Given the description of an element on the screen output the (x, y) to click on. 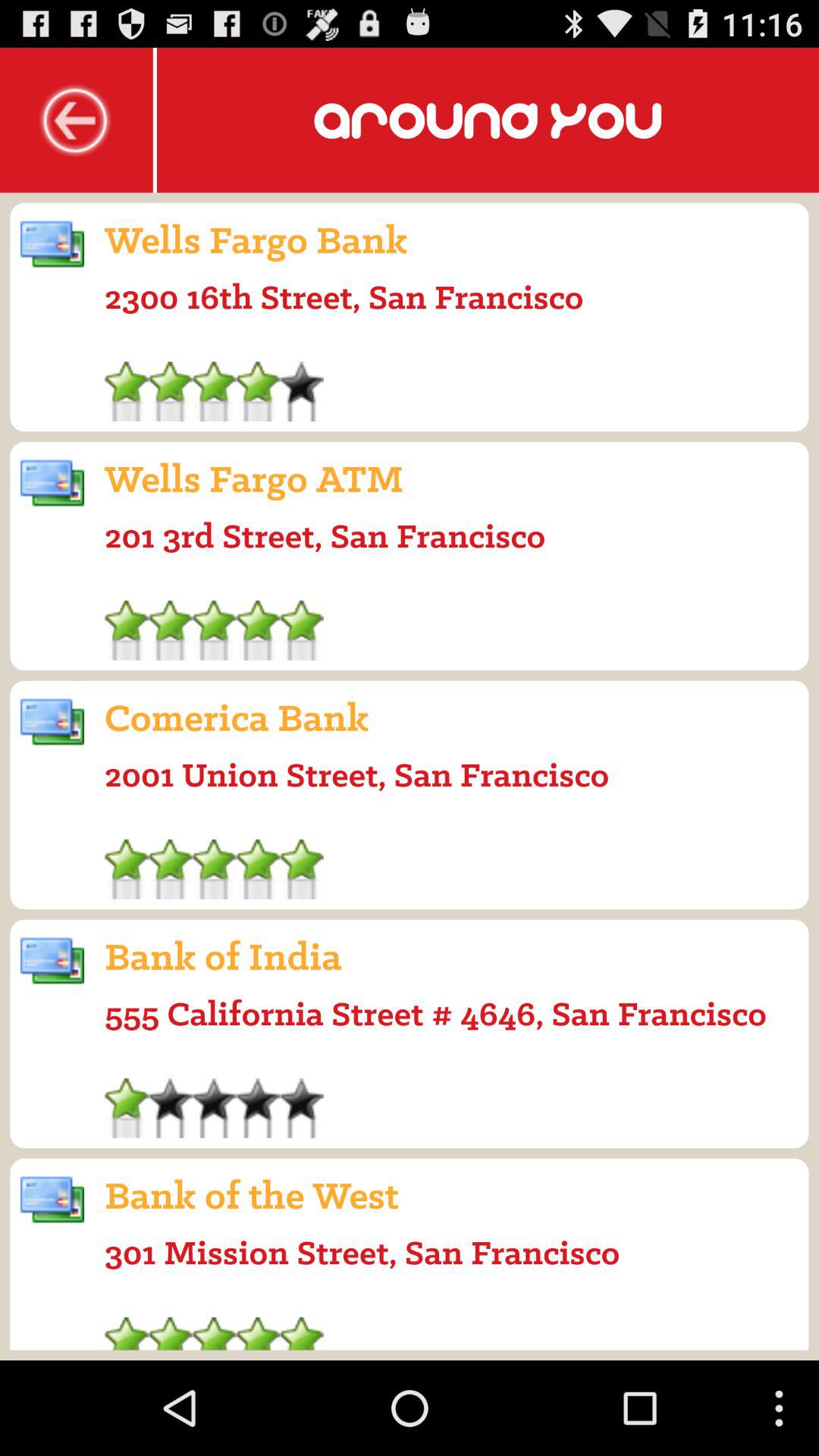
turn on icon below the wells fargo atm (324, 535)
